Given the description of an element on the screen output the (x, y) to click on. 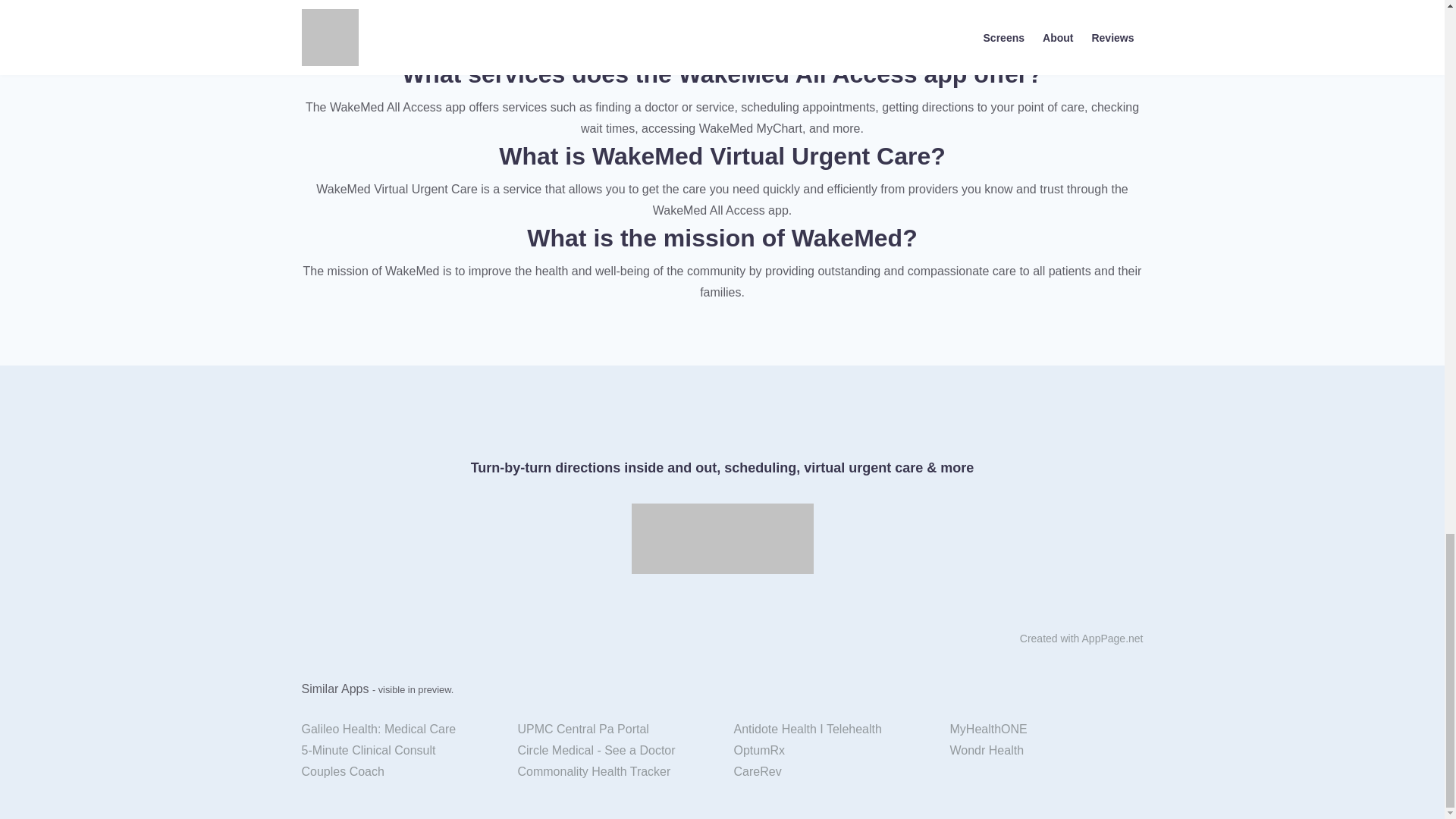
Wondr Health (1046, 750)
Galileo Health: Medical Care (397, 729)
Antidote Health I Telehealth (829, 729)
OptumRx (829, 750)
Circle Medical - See a Doctor (614, 750)
UPMC Central Pa Portal (614, 729)
Couples Coach (397, 771)
Commonality Health Tracker (614, 771)
5-Minute Clinical Consult (397, 750)
CareRev (829, 771)
MyHealthONE (1046, 729)
AppPage.net (1111, 638)
